Given the description of an element on the screen output the (x, y) to click on. 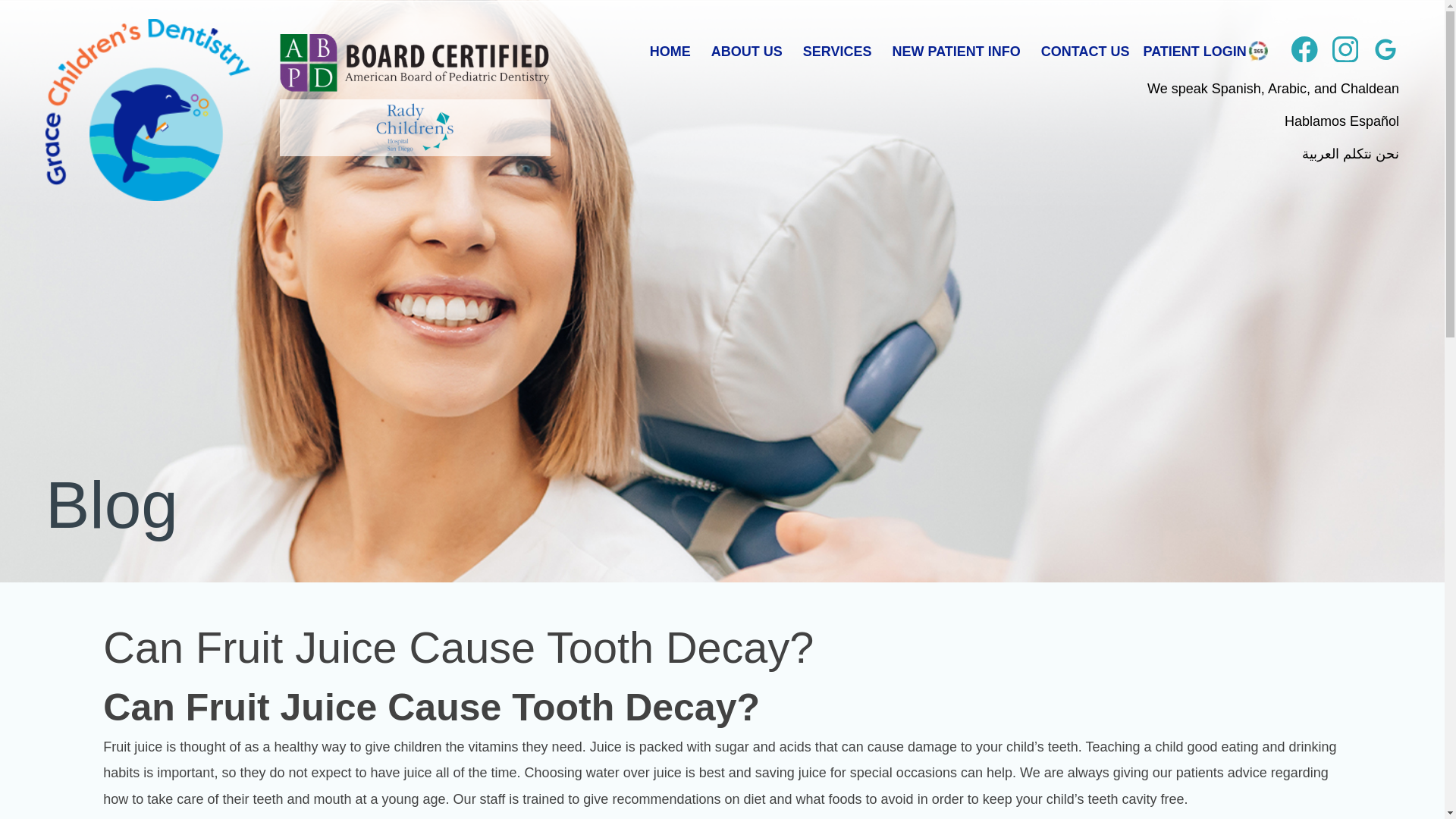
Facebook icon (1304, 51)
ABOUT US (747, 51)
Instagram icon (1345, 49)
NEW PATIENT INFO (955, 51)
CONTACT US (1085, 51)
Google icon (1386, 51)
Instagram icon (1345, 51)
Google icon (1386, 49)
HOME (669, 51)
Facebook icon (1304, 49)
SERVICES (837, 51)
PATIENT LOGIN (1194, 51)
